Given the description of an element on the screen output the (x, y) to click on. 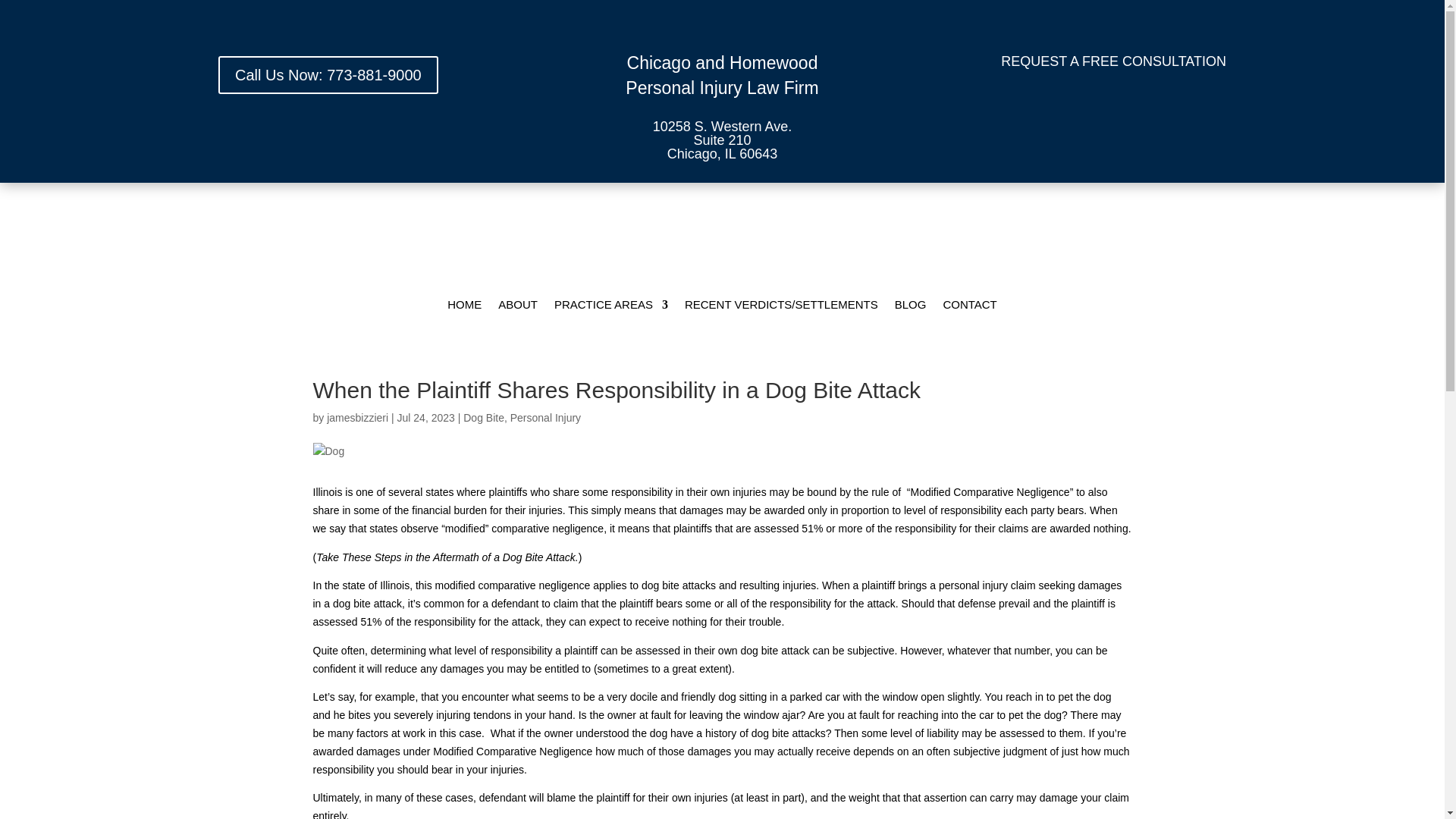
BLOG (910, 307)
Call Us Now: 773-881-9000 (328, 75)
PRACTICE AREAS (611, 307)
Posts by jamesbizzieri (357, 417)
HOME (463, 307)
ABOUT (517, 307)
CONTACT (968, 307)
